Given the description of an element on the screen output the (x, y) to click on. 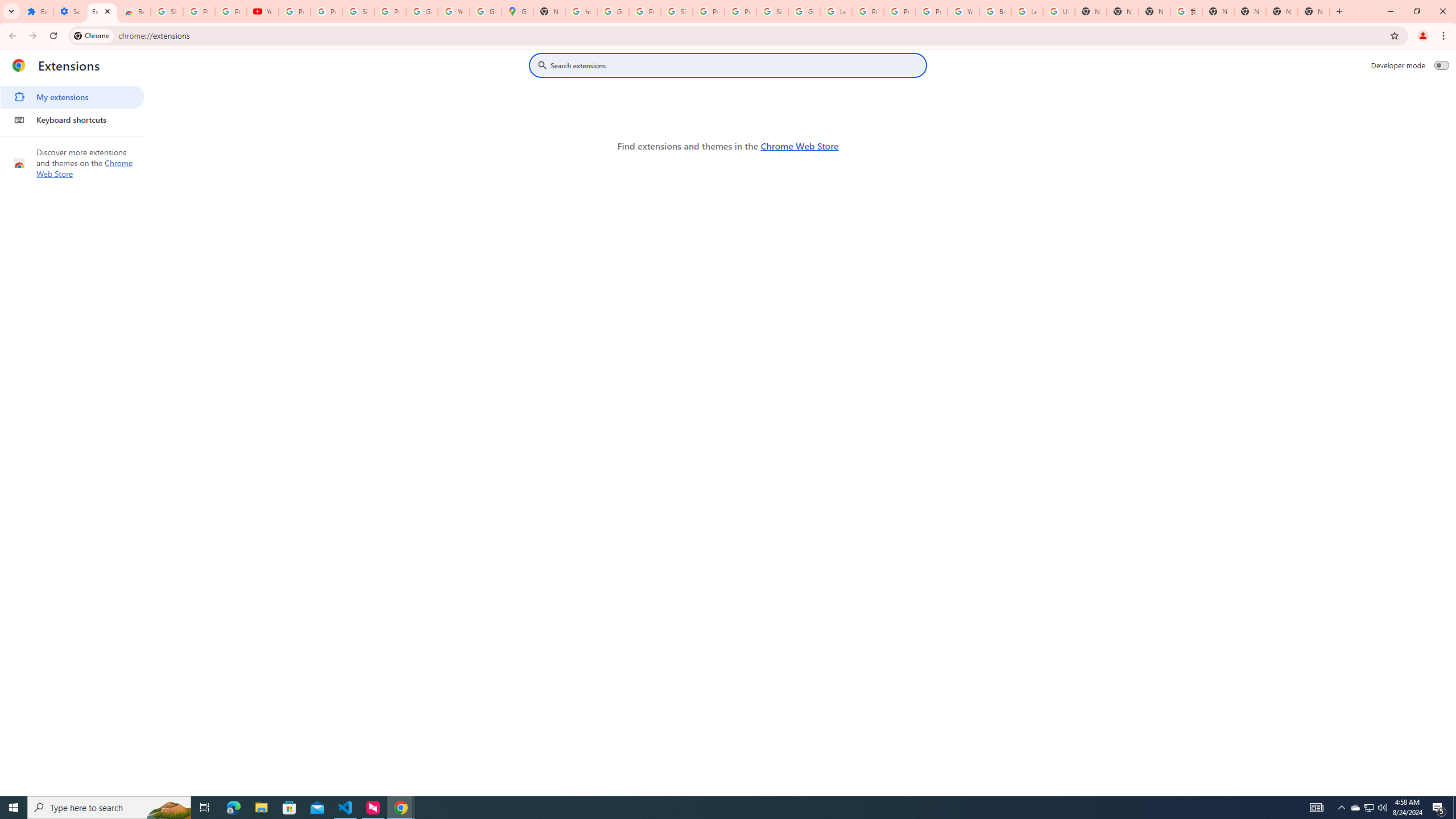
Developer mode (1442, 64)
Extensions (101, 11)
Google Account (421, 11)
YouTube (453, 11)
Search extensions (735, 65)
My extensions (72, 96)
Chrome Web Store (799, 145)
Privacy Help Center - Policies Help (868, 11)
